Given the description of an element on the screen output the (x, y) to click on. 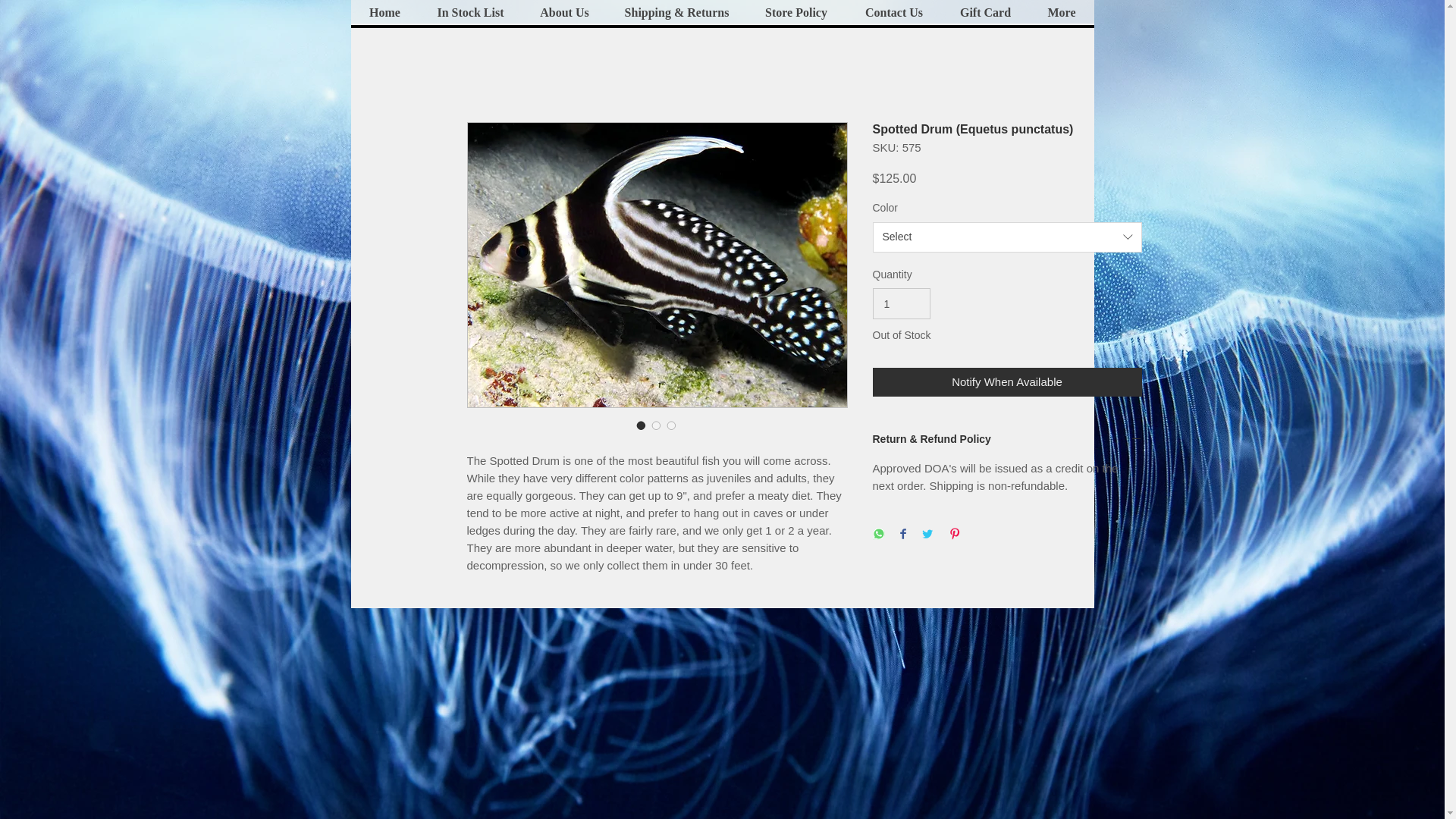
Store Policy (795, 12)
In Stock List (470, 12)
Gift Card (985, 12)
Home (384, 12)
Select (1006, 236)
About Us (564, 12)
Notify When Available (1006, 382)
1 (901, 303)
Contact Us (893, 12)
